Given the description of an element on the screen output the (x, y) to click on. 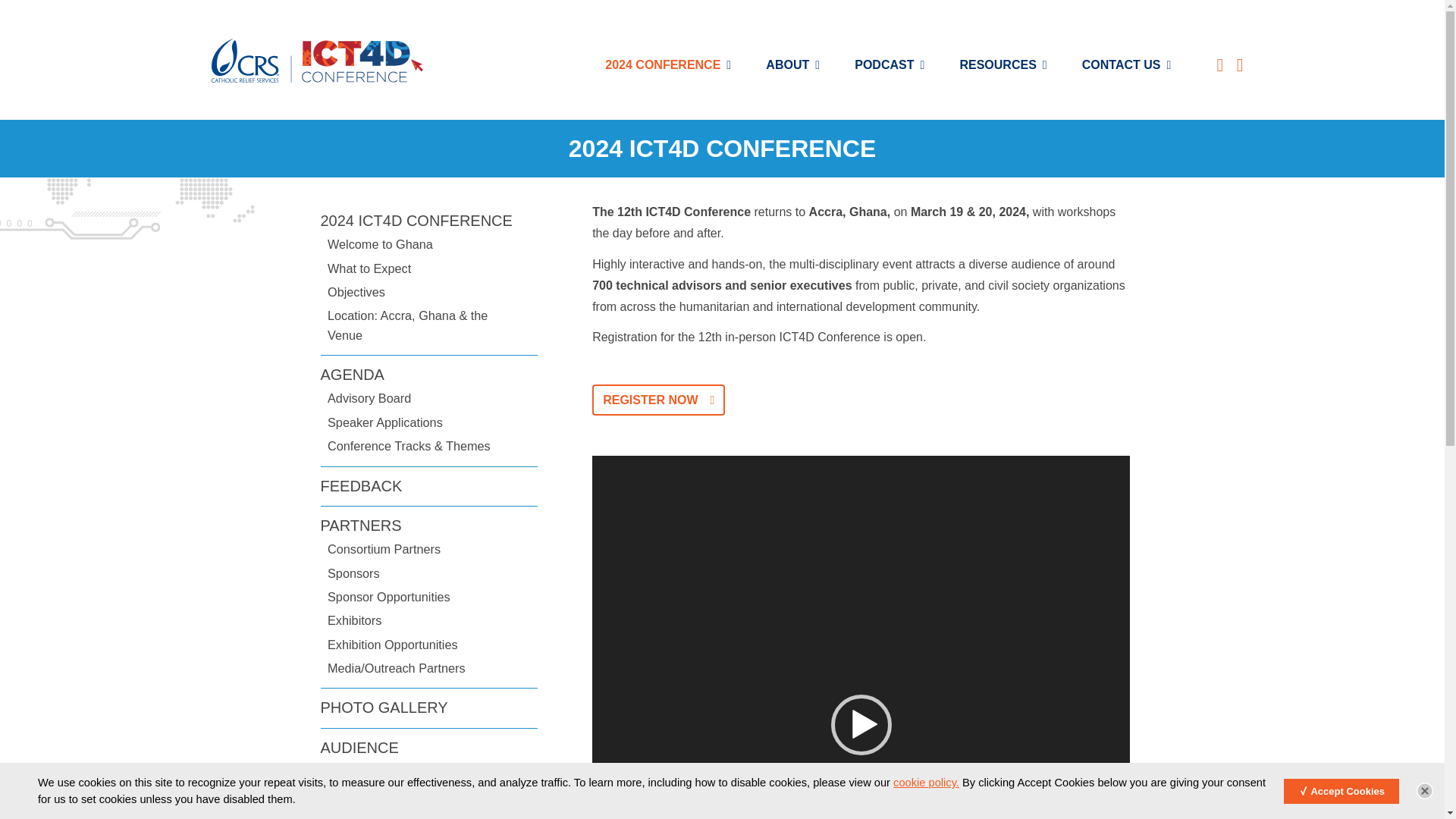
Accept Cookies (1341, 790)
cookie policy. (926, 782)
PODCAST (887, 69)
Close (1424, 790)
2024 CONFERENCE (665, 69)
CONTACT US (1124, 69)
ABOUT (790, 69)
Accept Cookies (1341, 790)
RESOURCES (1000, 69)
